Given the description of an element on the screen output the (x, y) to click on. 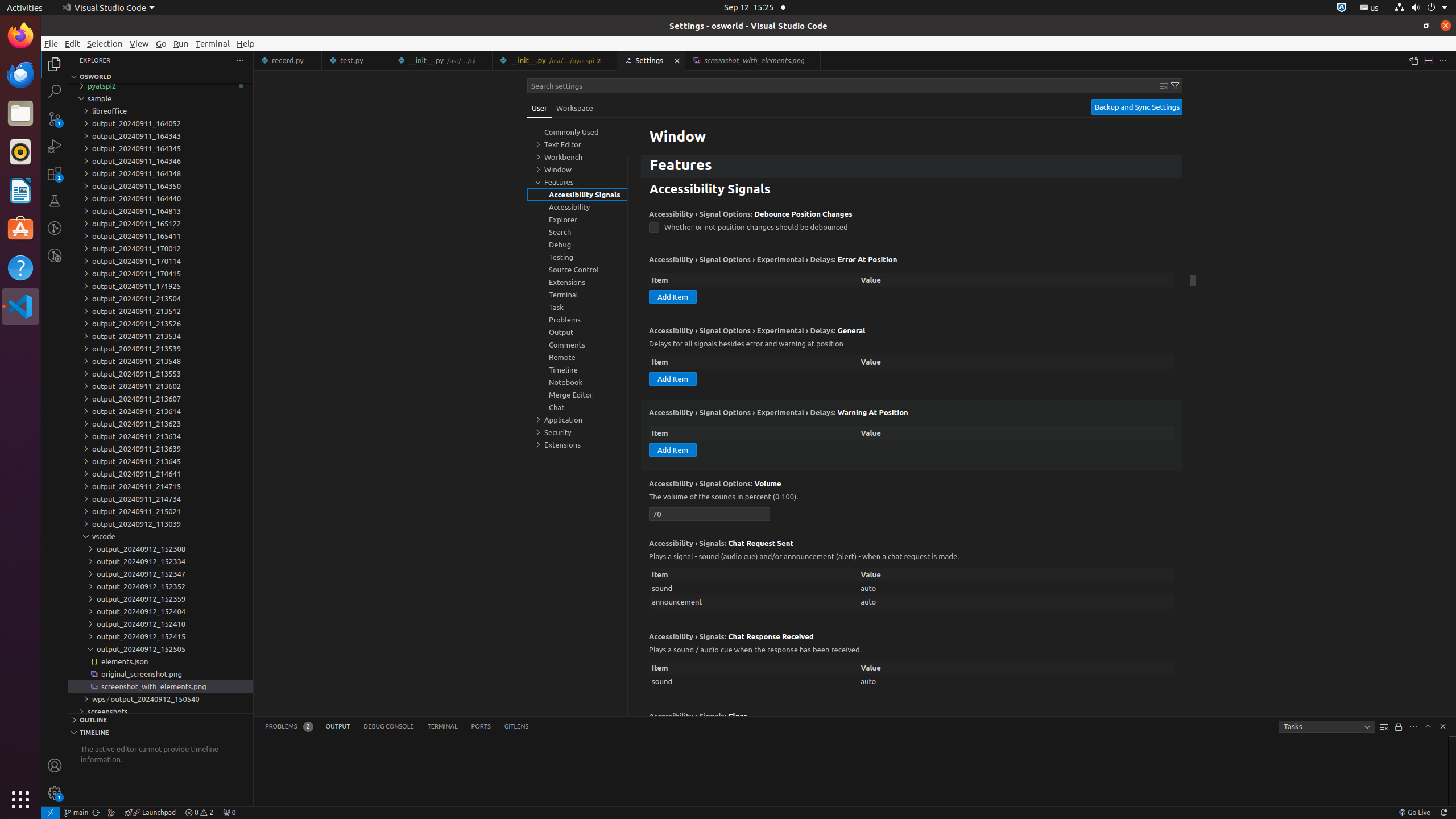
Firefox Web Browser Element type: push-button (20, 35)
Views and More Actions... Element type: push-button (1413, 726)
Extensions, group Element type: tree-item (577, 444)
output_20240911_165122 Element type: tree-item (160, 223)
